Given the description of an element on the screen output the (x, y) to click on. 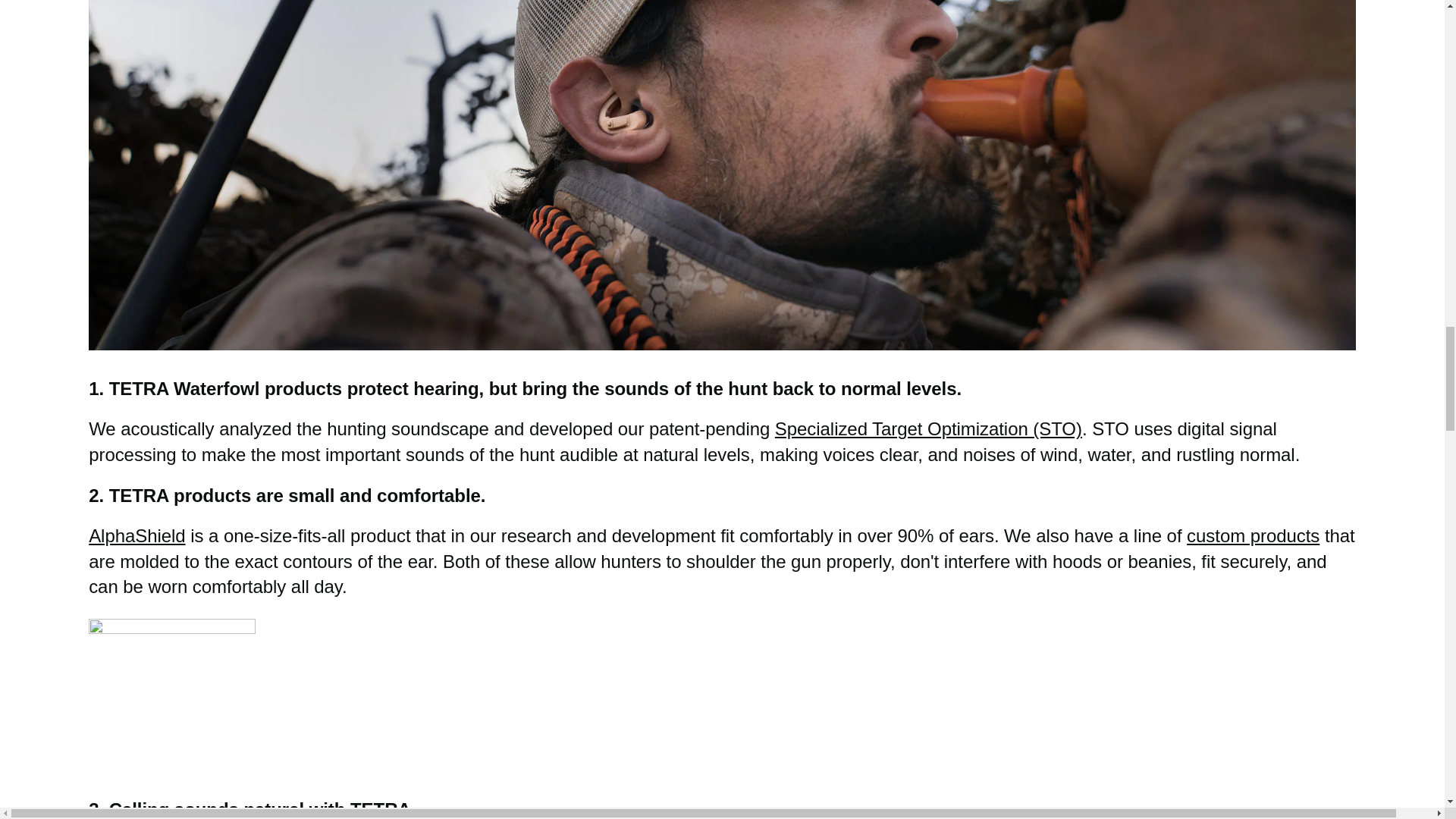
Specialized Target Optimization (927, 428)
